Given the description of an element on the screen output the (x, y) to click on. 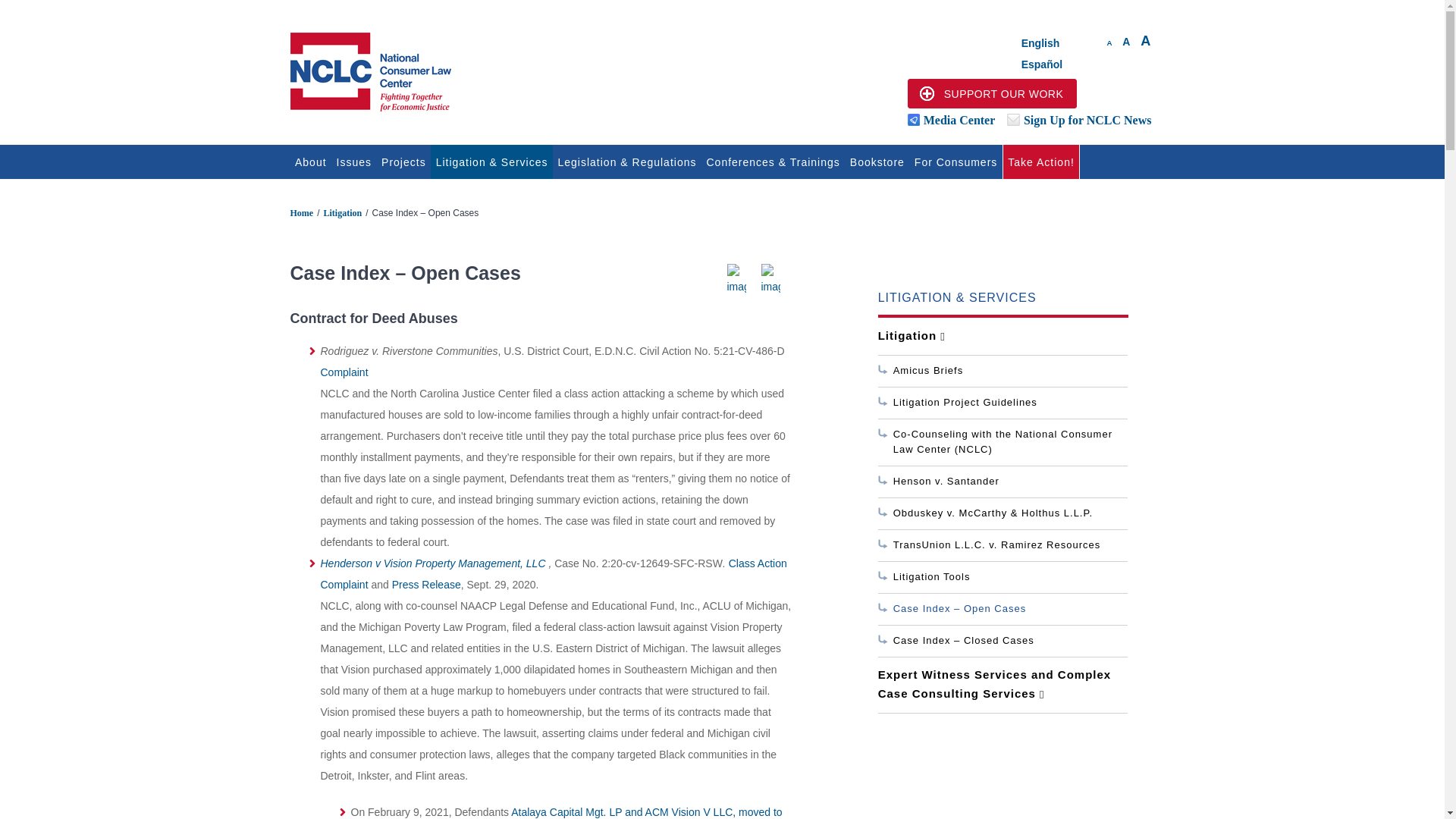
English (1040, 43)
About (310, 161)
Sign Up for NCLC News (1088, 120)
Media Center (959, 120)
SUPPORT OUR WORK (992, 93)
